Given the description of an element on the screen output the (x, y) to click on. 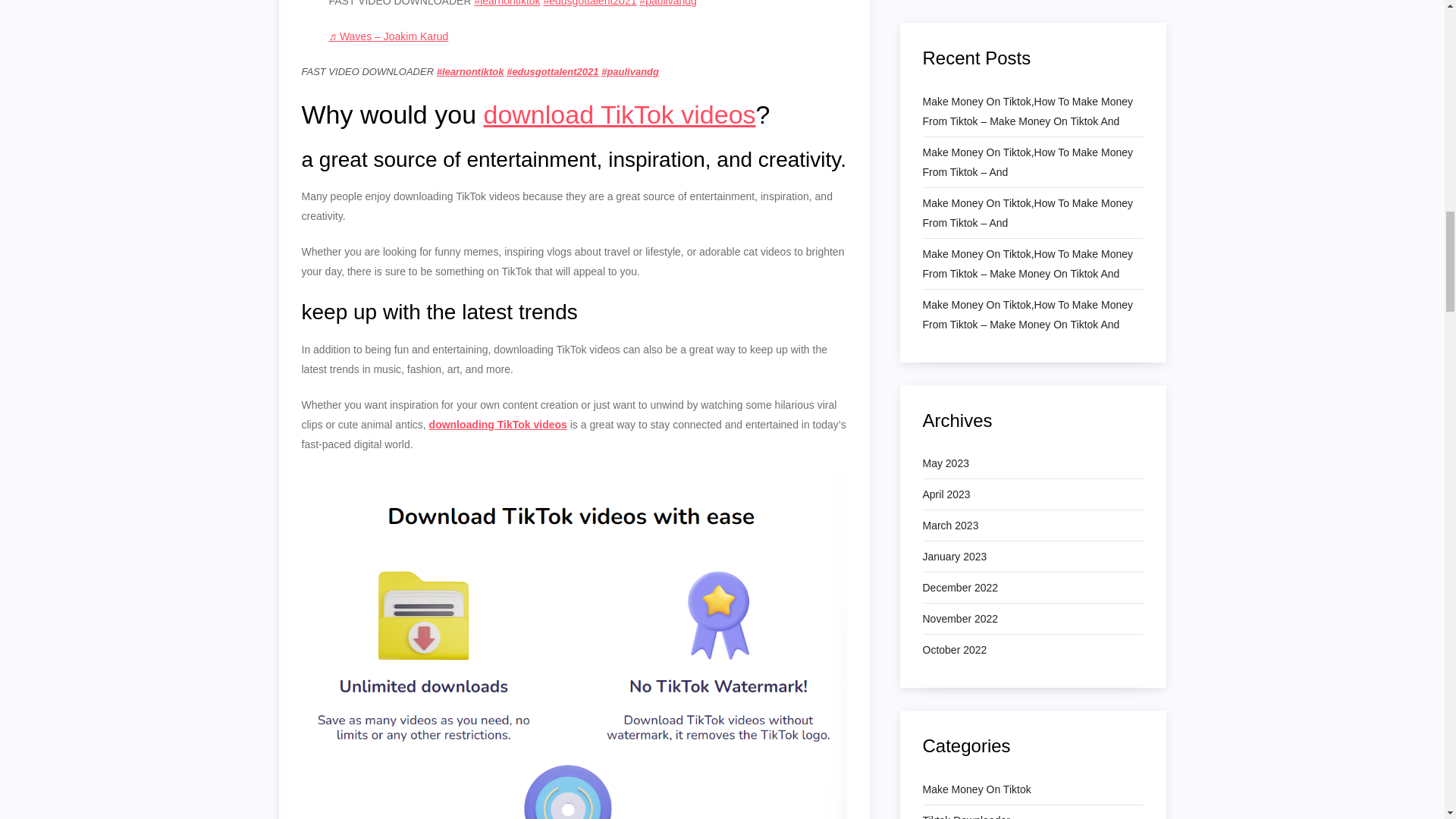
download TikTok videos (619, 113)
downloading TikTok videos (498, 424)
